Given the description of an element on the screen output the (x, y) to click on. 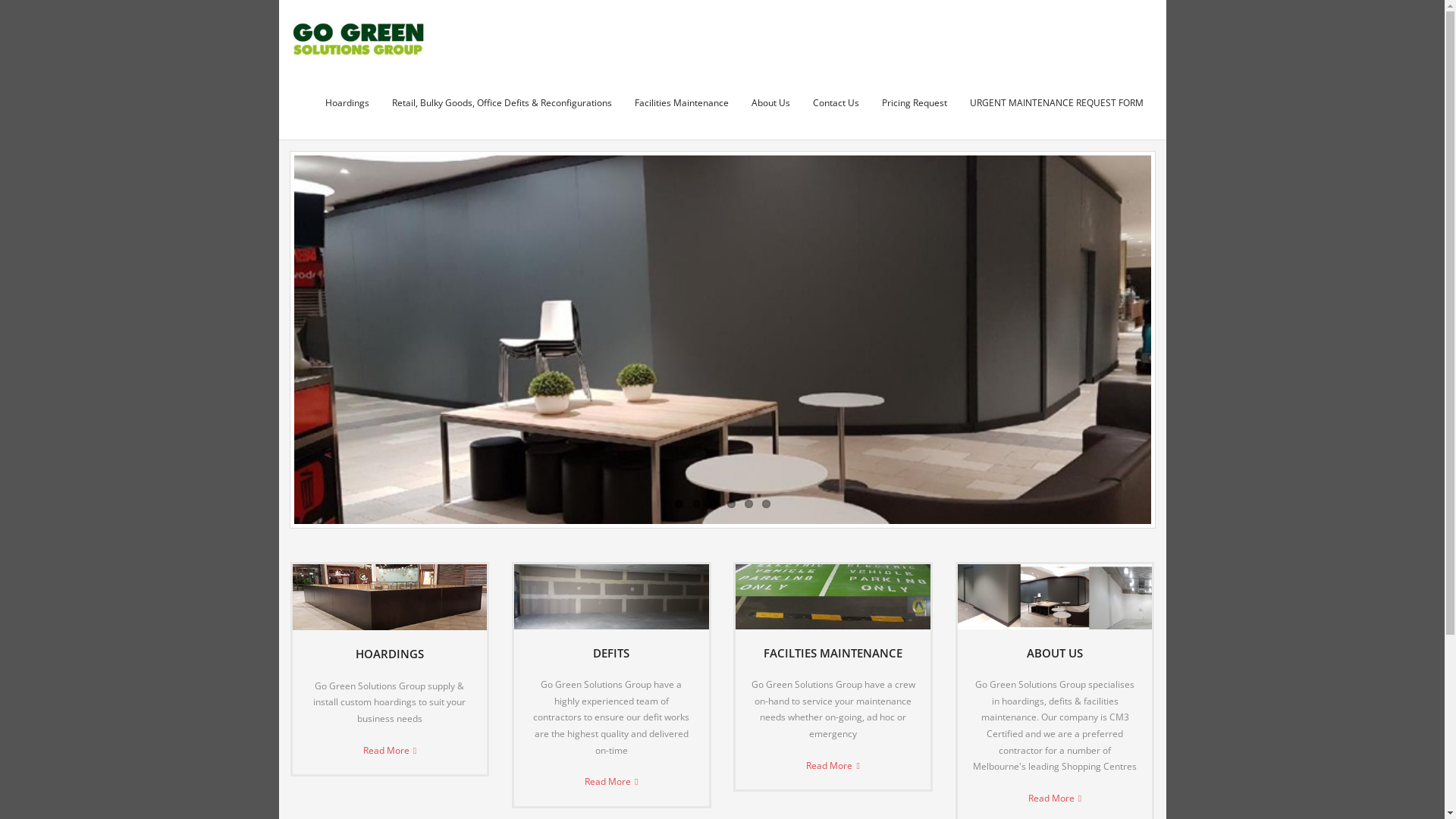
5 Element type: text (748, 503)
Retail, Bulky Goods, Office Defits & Reconfigurations Element type: text (501, 102)
Facilities Maintenance Element type: text (681, 102)
Contact Us Element type: text (834, 102)
1 Element type: text (678, 503)
Pricing Request Element type: text (914, 102)
4 Element type: text (730, 503)
URGENT MAINTENANCE REQUEST FORM Element type: text (1056, 102)
Read More Element type: text (832, 765)
3 Element type: text (713, 503)
About Us Element type: text (770, 102)
6 Element type: text (765, 503)
Read More Element type: text (611, 781)
2 Element type: text (695, 503)
Read More Element type: text (389, 750)
Read More Element type: text (1054, 797)
Hoardings Element type: text (346, 102)
